Given the description of an element on the screen output the (x, y) to click on. 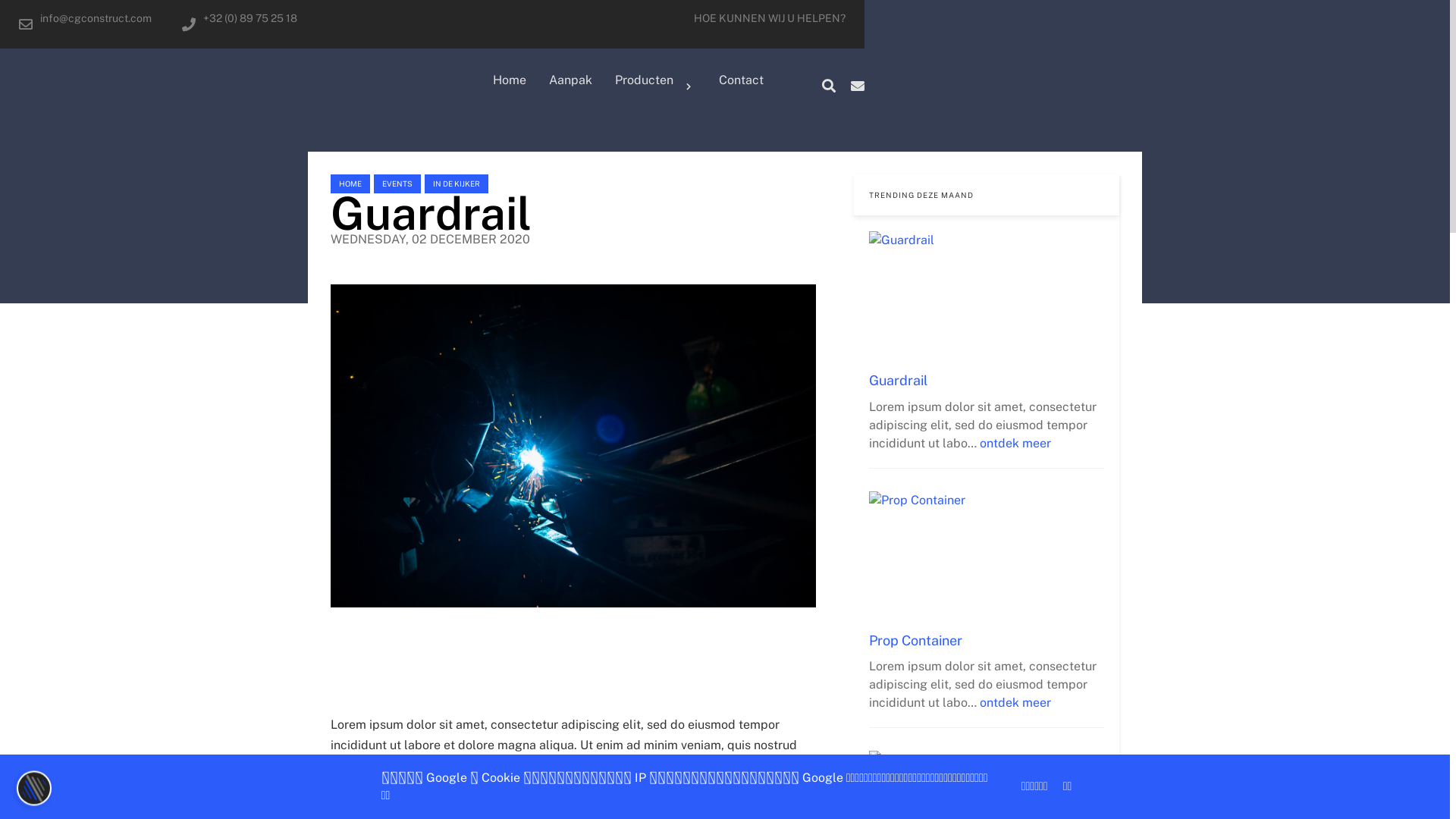
info@cgconstruct.com Element type: text (84, 24)
Home Element type: text (509, 80)
HOME Element type: text (350, 183)
Guardrail Element type: text (898, 380)
IN DE KIJKER Element type: text (456, 183)
+32 (0) 89 75 25 18 Element type: text (239, 24)
EVENTS Element type: text (396, 183)
Aanpak Element type: text (570, 80)
Contact Element type: text (740, 80)
Producten Element type: text (655, 86)
ontdek meer Element type: text (1015, 443)
Prop Container Element type: text (915, 640)
ontdek meer Element type: text (1015, 702)
HOE KUNNEN WIJ U HELPEN? Element type: text (765, 24)
